Given the description of an element on the screen output the (x, y) to click on. 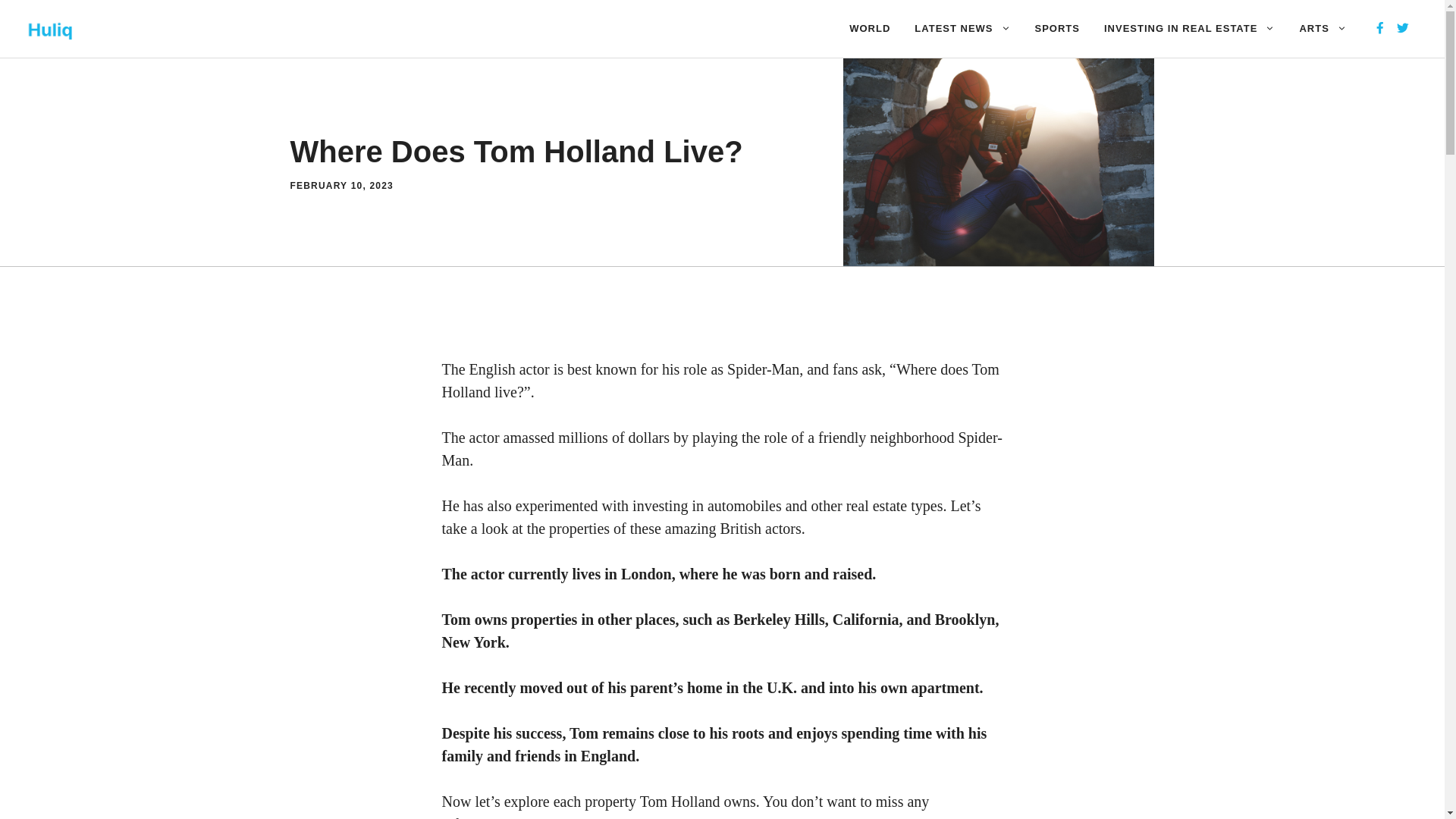
ARTS (1322, 28)
LATEST NEWS (962, 28)
SPORTS (1057, 28)
WORLD (869, 28)
INVESTING IN REAL ESTATE (1189, 28)
